Given the description of an element on the screen output the (x, y) to click on. 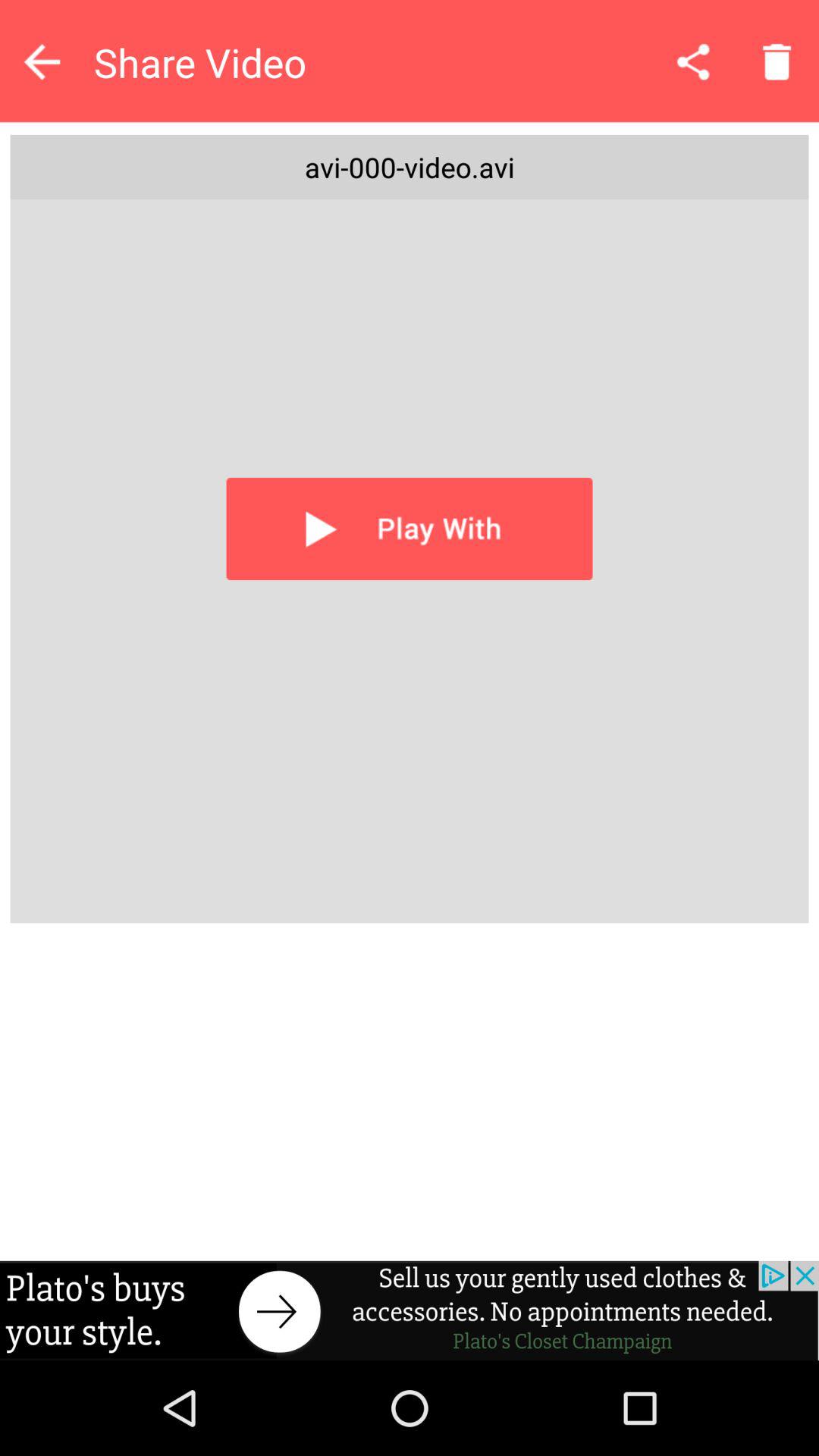
trash (776, 61)
